Given the description of an element on the screen output the (x, y) to click on. 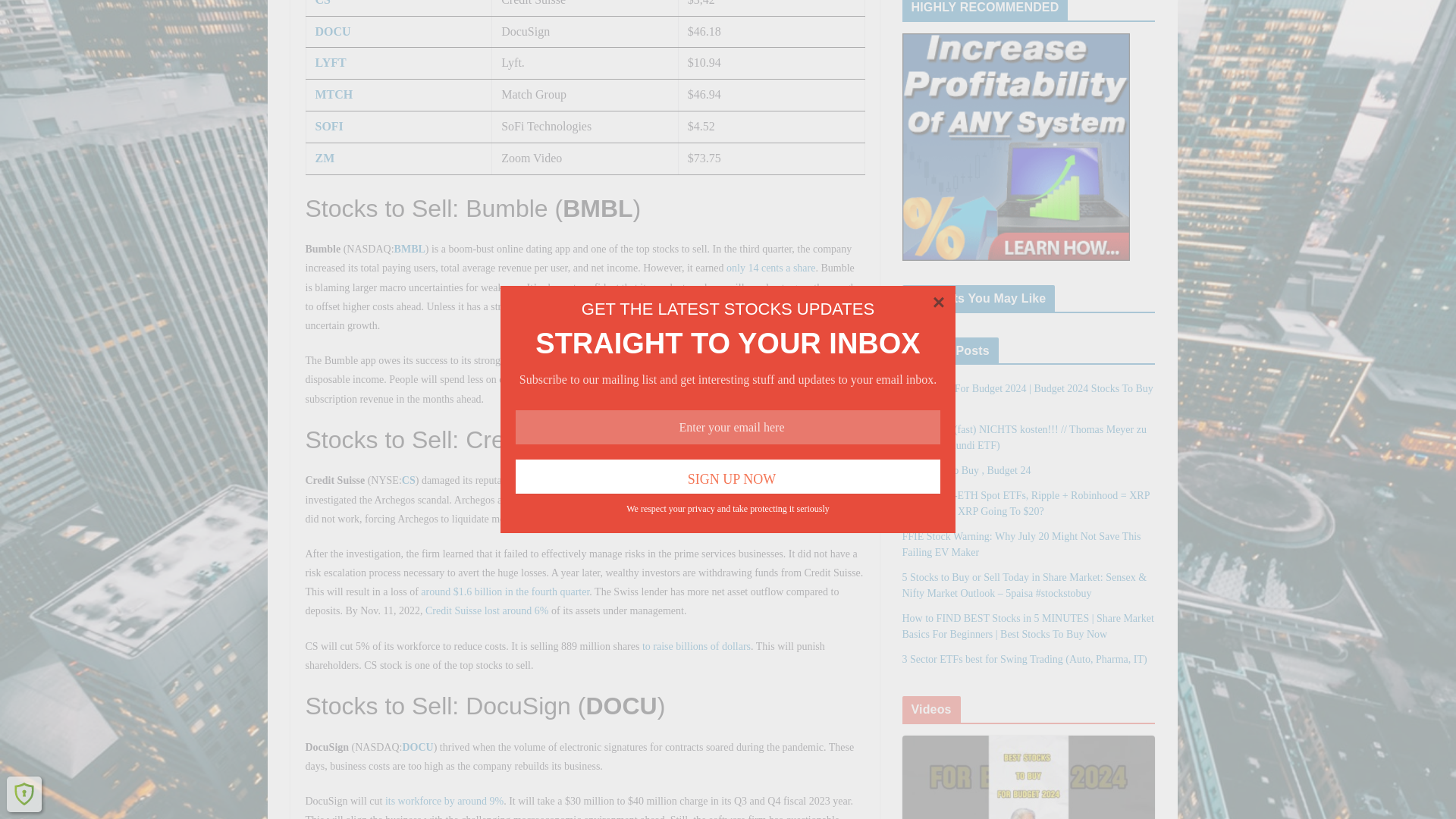
CS (322, 2)
